Given the description of an element on the screen output the (x, y) to click on. 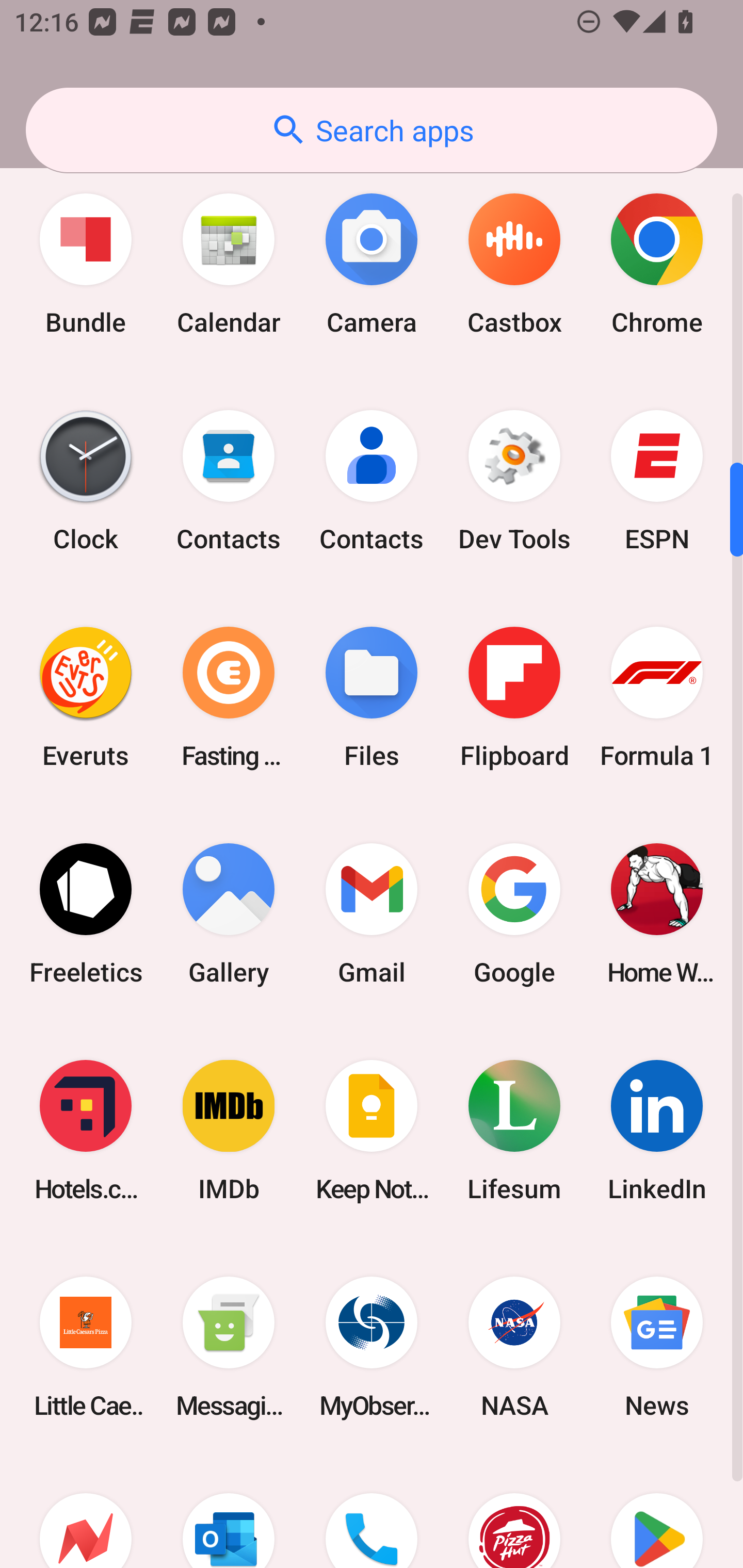
  Search apps (371, 130)
Bundle (85, 264)
Calendar (228, 264)
Camera (371, 264)
Castbox (514, 264)
Chrome (656, 264)
Clock (85, 481)
Contacts (228, 481)
Contacts (371, 481)
Dev Tools (514, 481)
ESPN (656, 481)
Everuts (85, 697)
Fasting Coach (228, 697)
Files (371, 697)
Flipboard (514, 697)
Formula 1 (656, 697)
Freeletics (85, 913)
Gallery (228, 913)
Gmail (371, 913)
Google (514, 913)
Home Workout (656, 913)
Hotels.com (85, 1130)
IMDb (228, 1130)
Keep Notes (371, 1130)
Lifesum (514, 1130)
LinkedIn (656, 1130)
Little Caesars Pizza (85, 1346)
Messaging (228, 1346)
MyObservatory (371, 1346)
NASA (514, 1346)
News (656, 1346)
NewsBreak (85, 1511)
Outlook (228, 1511)
Phone (371, 1511)
Pizza Hut HK & Macau (514, 1511)
Play Store (656, 1511)
